Given the description of an element on the screen output the (x, y) to click on. 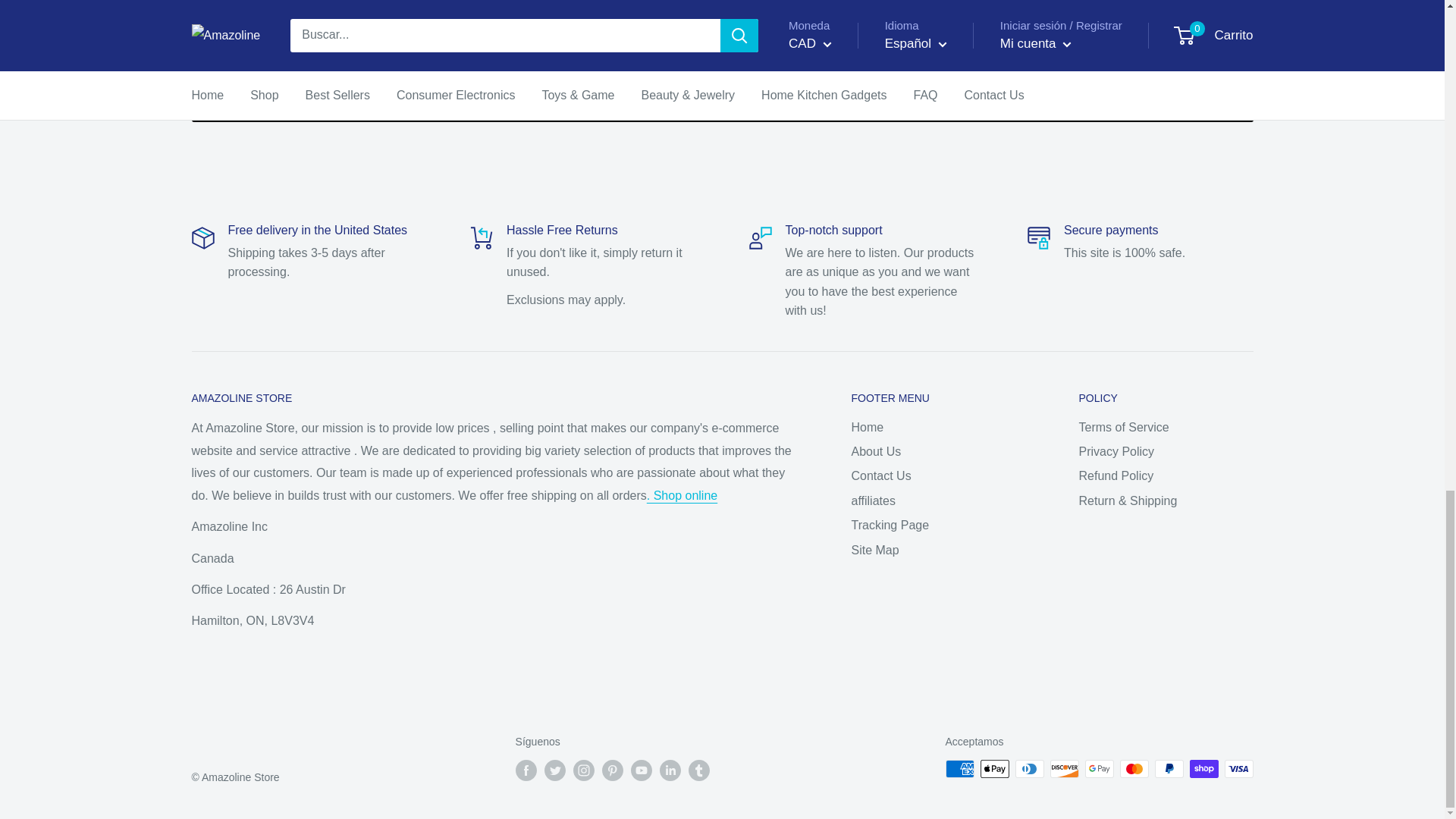
All collections (681, 495)
